Given the description of an element on the screen output the (x, y) to click on. 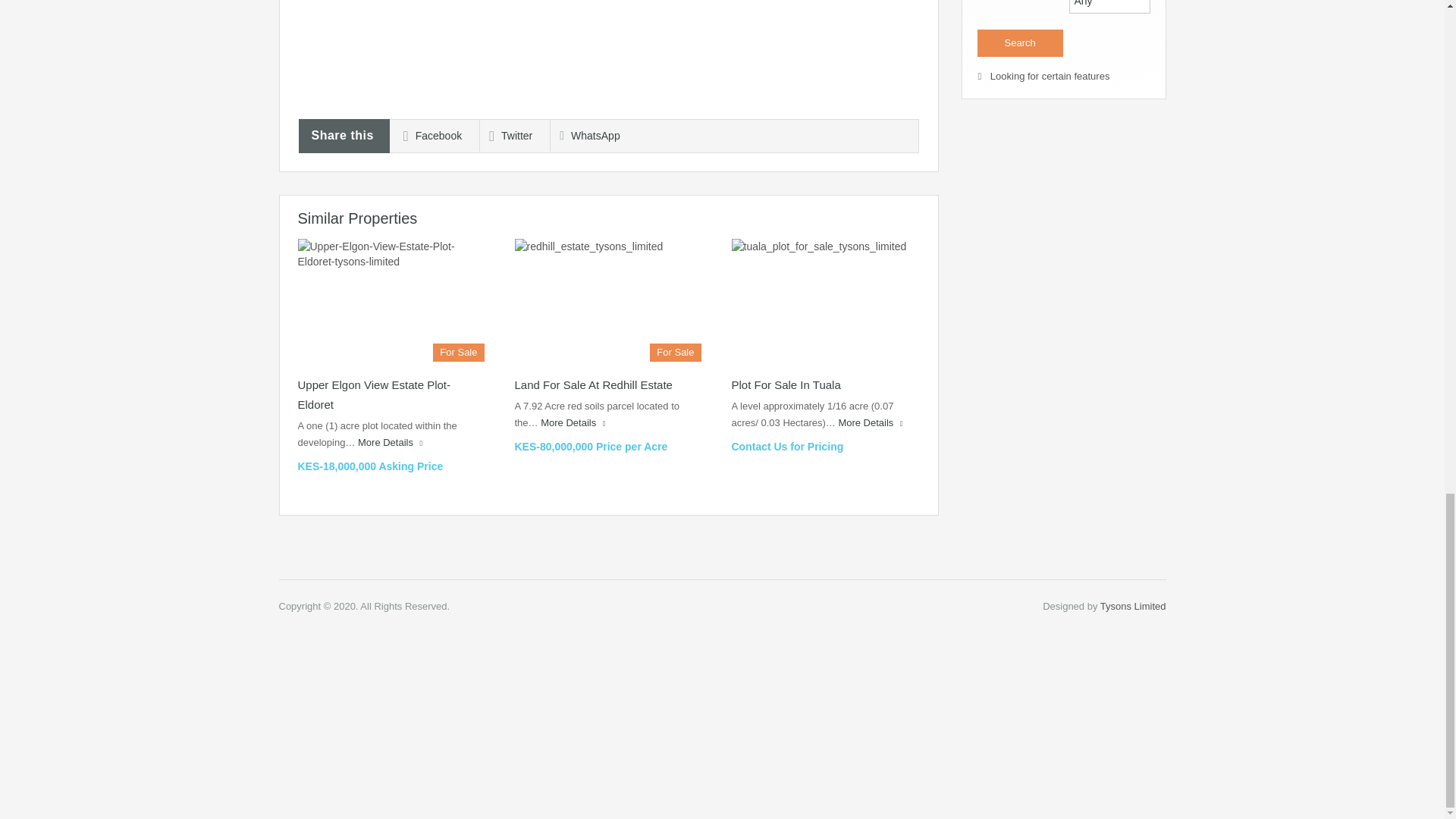
Search (1019, 42)
Only provide digits! (1109, 6)
